Given the description of an element on the screen output the (x, y) to click on. 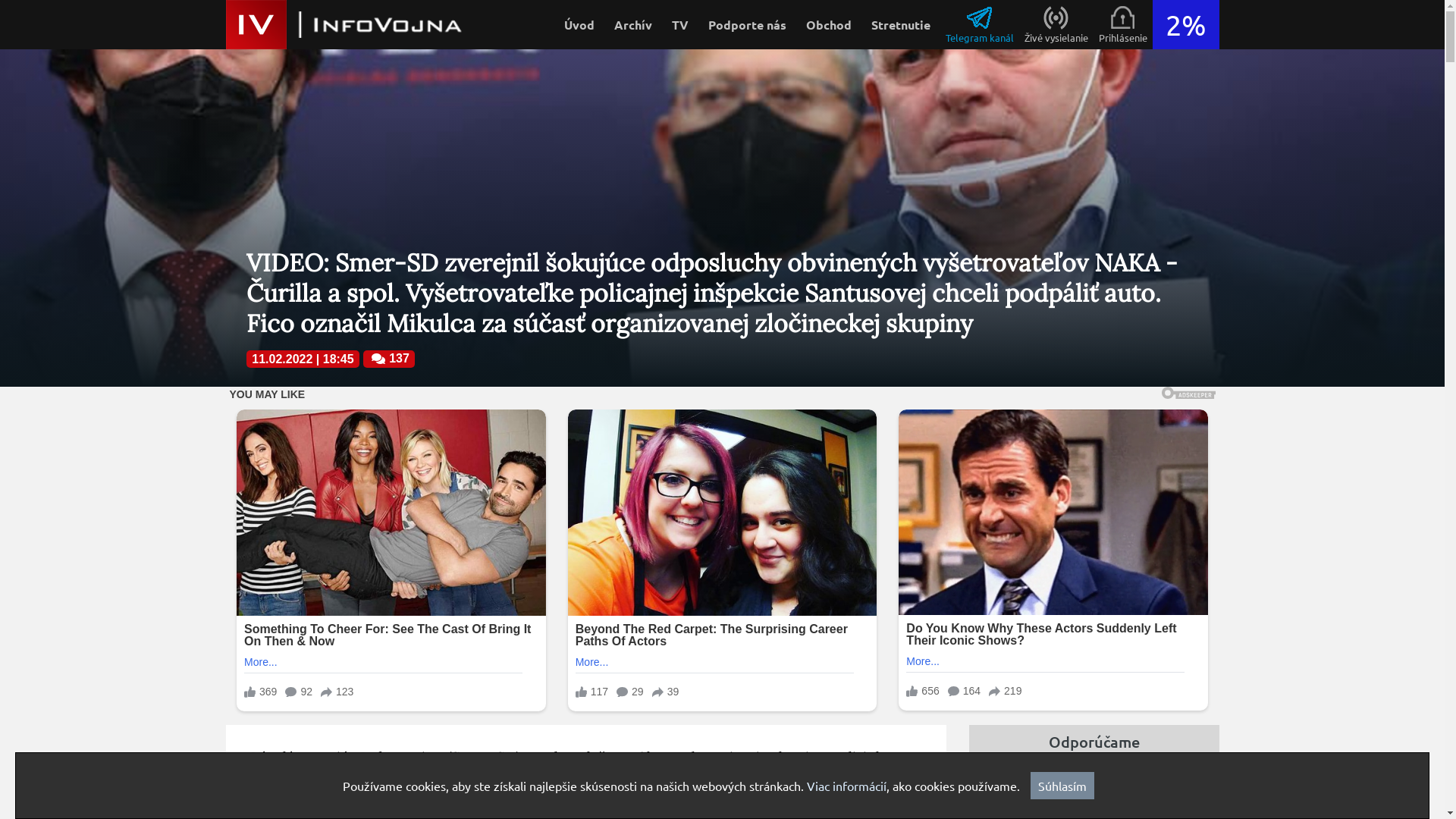
2% Element type: text (1185, 24)
TV Element type: text (679, 24)
Stretnutie Element type: text (900, 24)
137 Element type: text (378, 358)
Obchod Element type: text (828, 24)
